Given the description of an element on the screen output the (x, y) to click on. 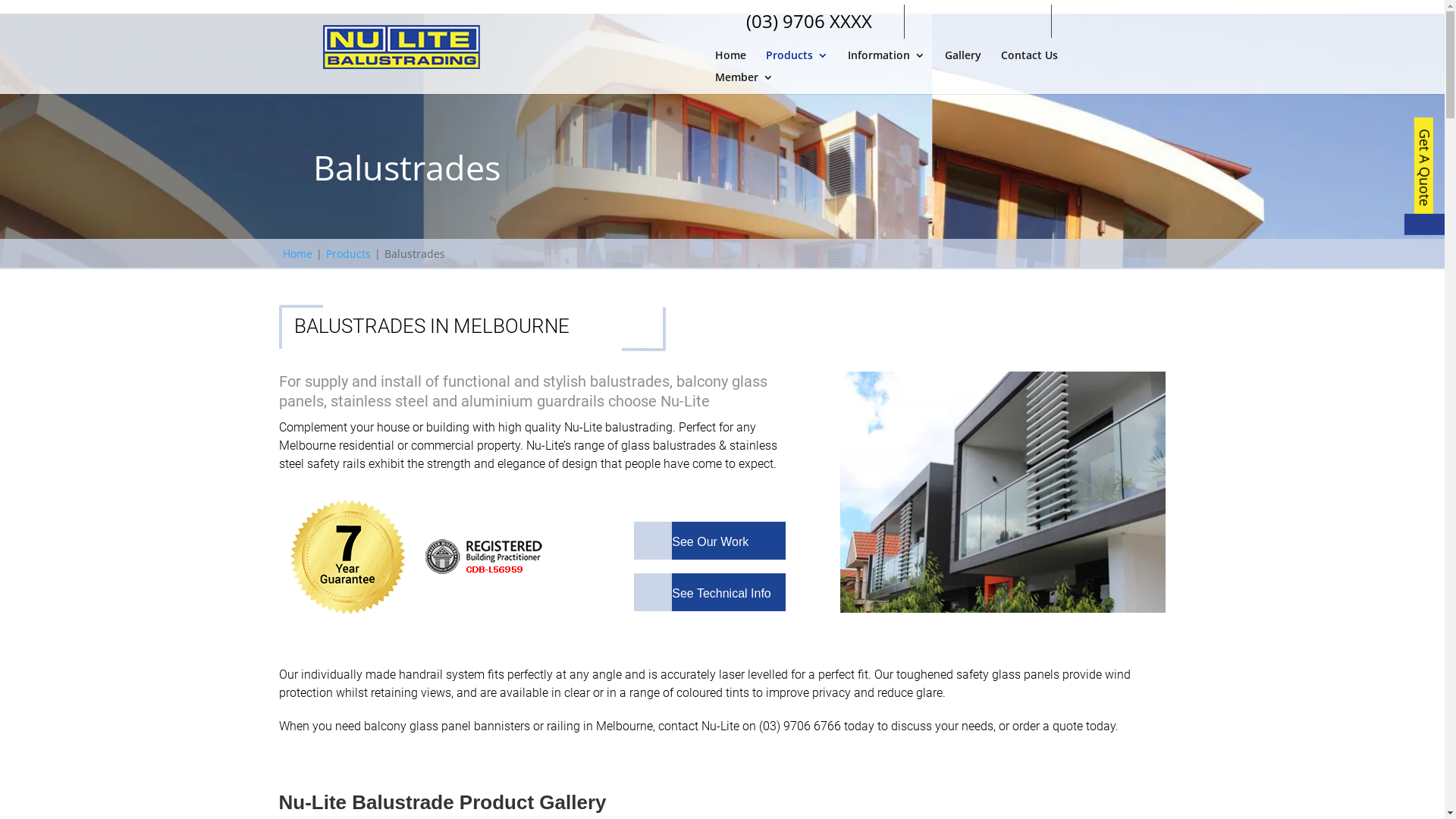
See Technical Info Element type: text (701, 592)
See Our Work Element type: text (690, 541)
Contact Us Element type: text (1029, 61)
Products Element type: text (347, 253)
balustrades Element type: hover (483, 556)
Gallery Element type: text (962, 61)
Home Element type: text (729, 61)
(03) 9706 XXXX Element type: text (808, 23)
Home Element type: text (297, 253)
Products Element type: text (796, 61)
Member Element type: text (743, 83)
bannisters in melbourne Element type: hover (1002, 492)
Information Element type: text (886, 61)
balustrades Element type: hover (347, 556)
